Given the description of an element on the screen output the (x, y) to click on. 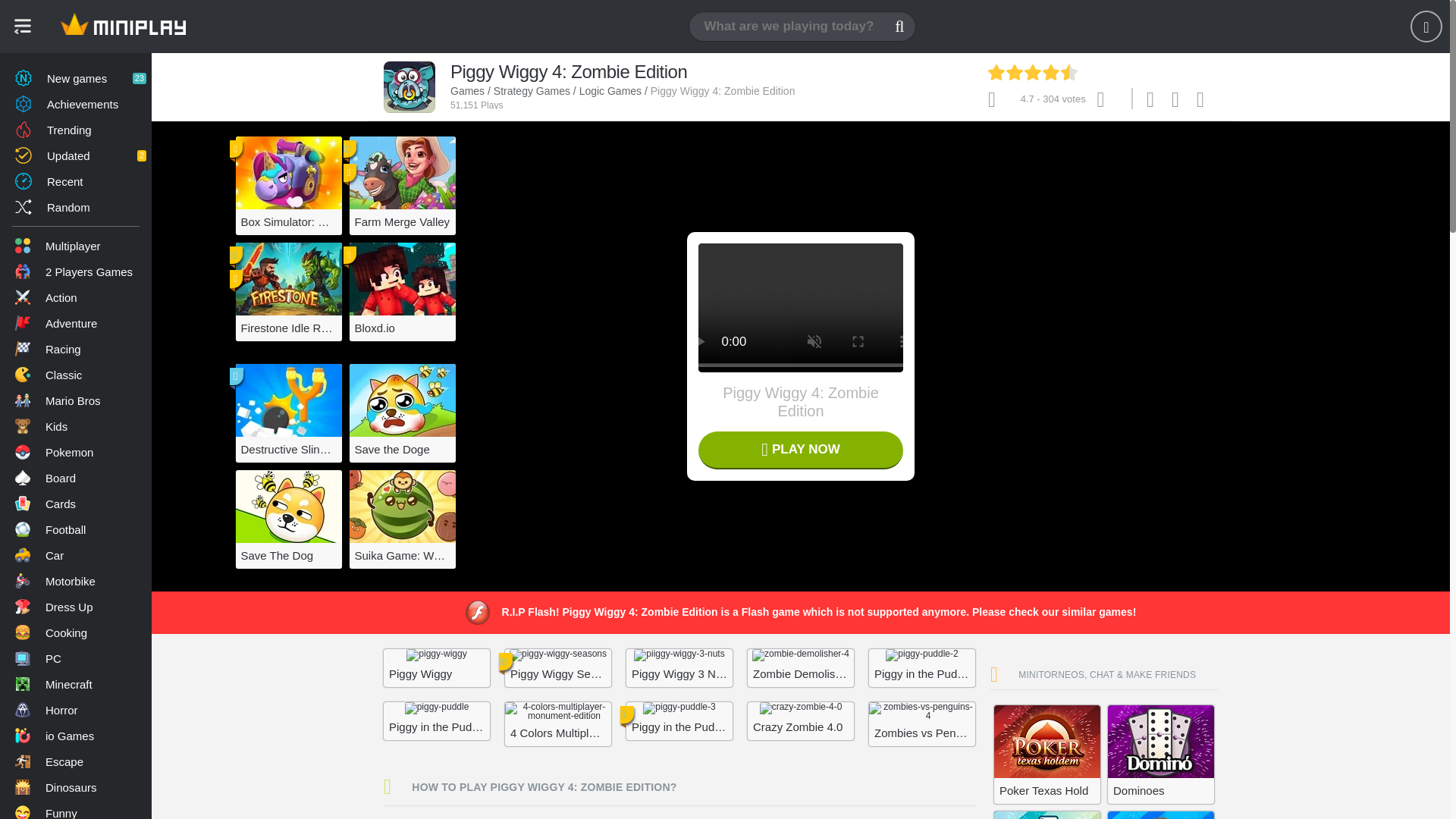
Card Games (75, 503)
Achievements (75, 103)
Action Games (75, 297)
New games (75, 77)
Dinosaurs (75, 786)
Horror (75, 709)
io Games (75, 735)
Recent (75, 181)
Dress Up (75, 606)
Kids (75, 425)
2 Players Games (75, 271)
Minecraft (75, 683)
Kids Games (75, 425)
Adventure Games (75, 322)
2 Players Games (75, 271)
